Given the description of an element on the screen output the (x, y) to click on. 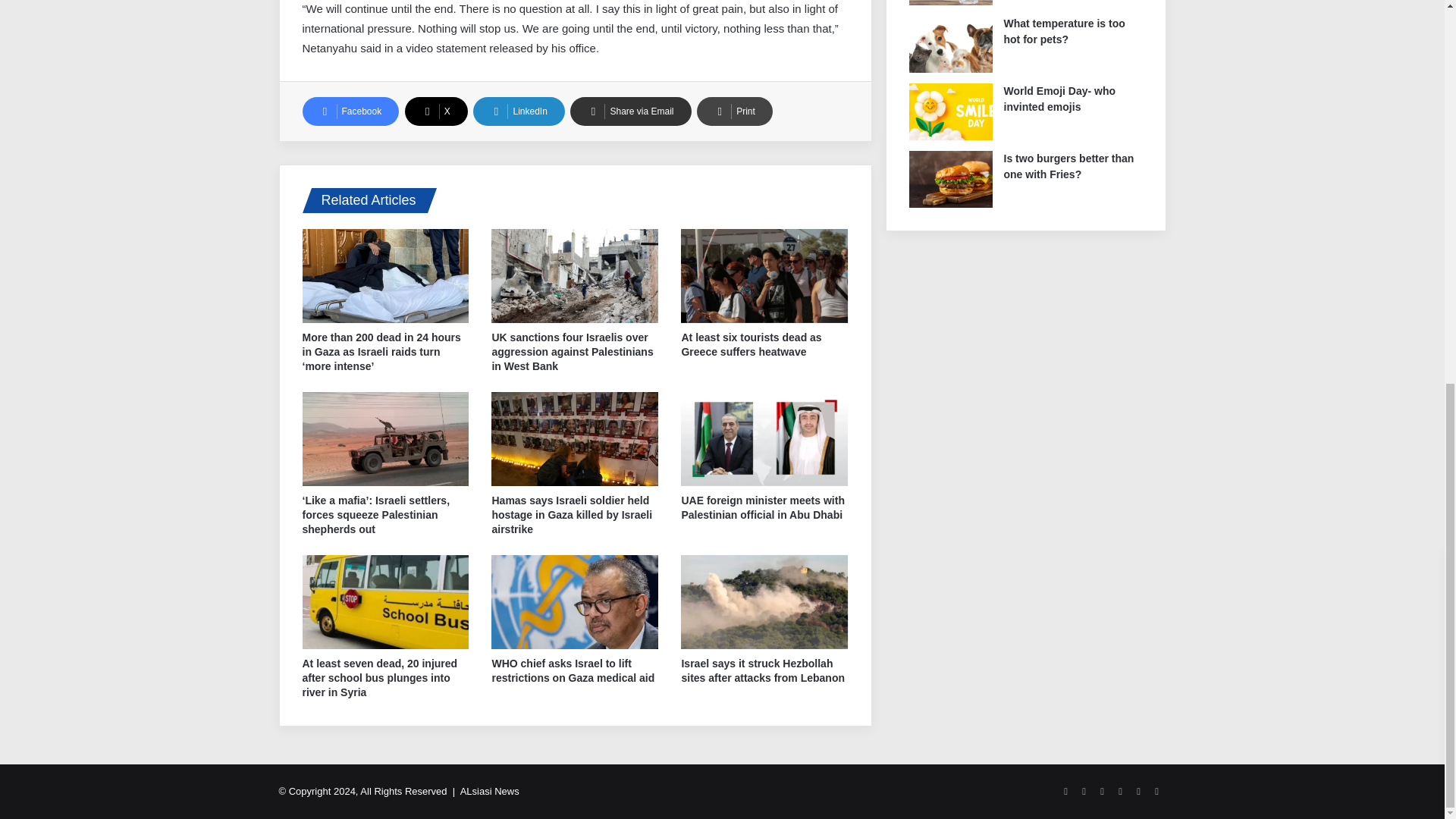
At least six tourists dead as Greece suffers heatwave (751, 344)
Print (735, 111)
Share via Email (630, 111)
Share via Email (630, 111)
LinkedIn (518, 111)
Facebook (349, 111)
Facebook (349, 111)
Print (735, 111)
LinkedIn (518, 111)
X (435, 111)
